Given the description of an element on the screen output the (x, y) to click on. 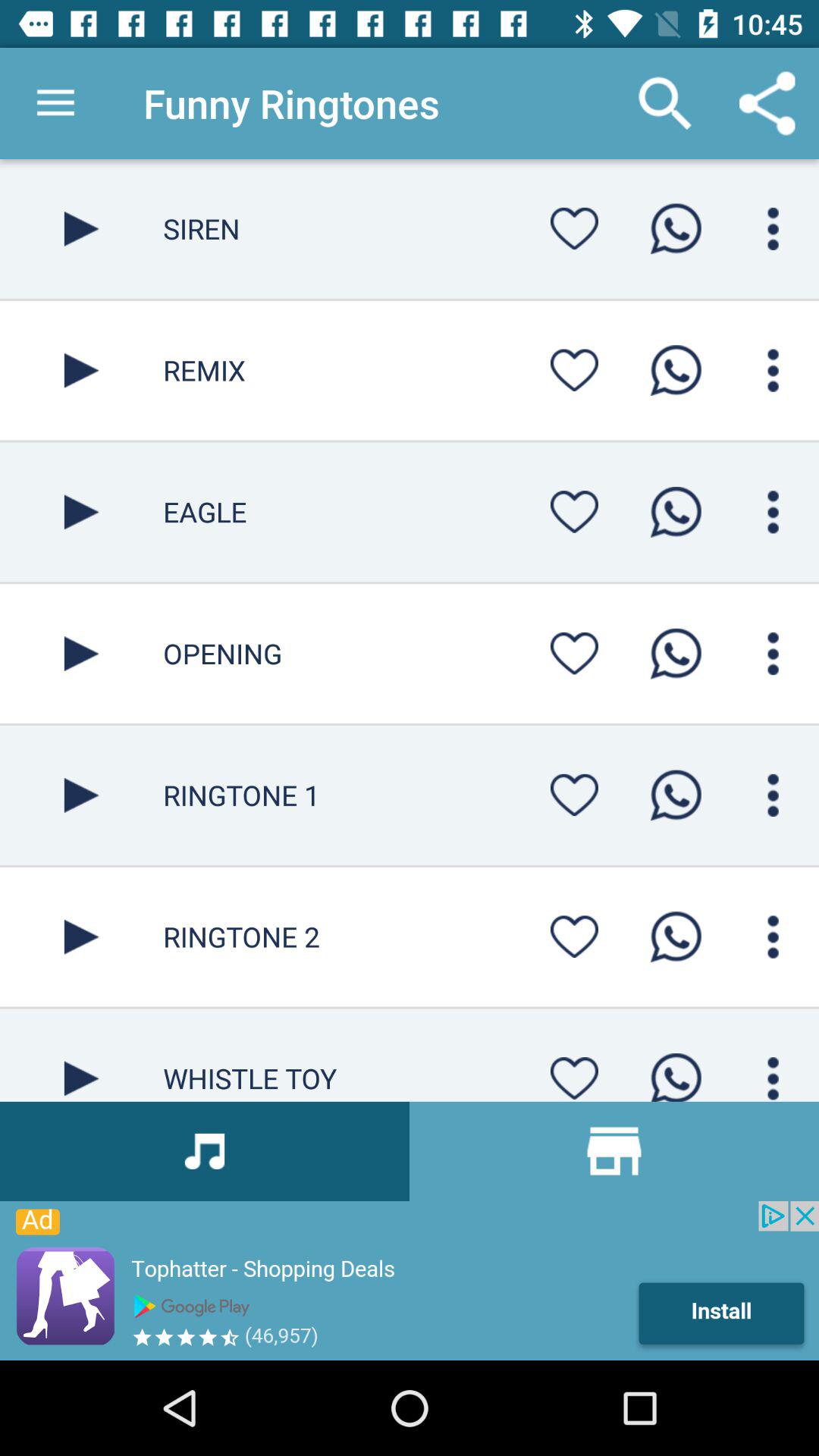
menu pega (773, 794)
